Given the description of an element on the screen output the (x, y) to click on. 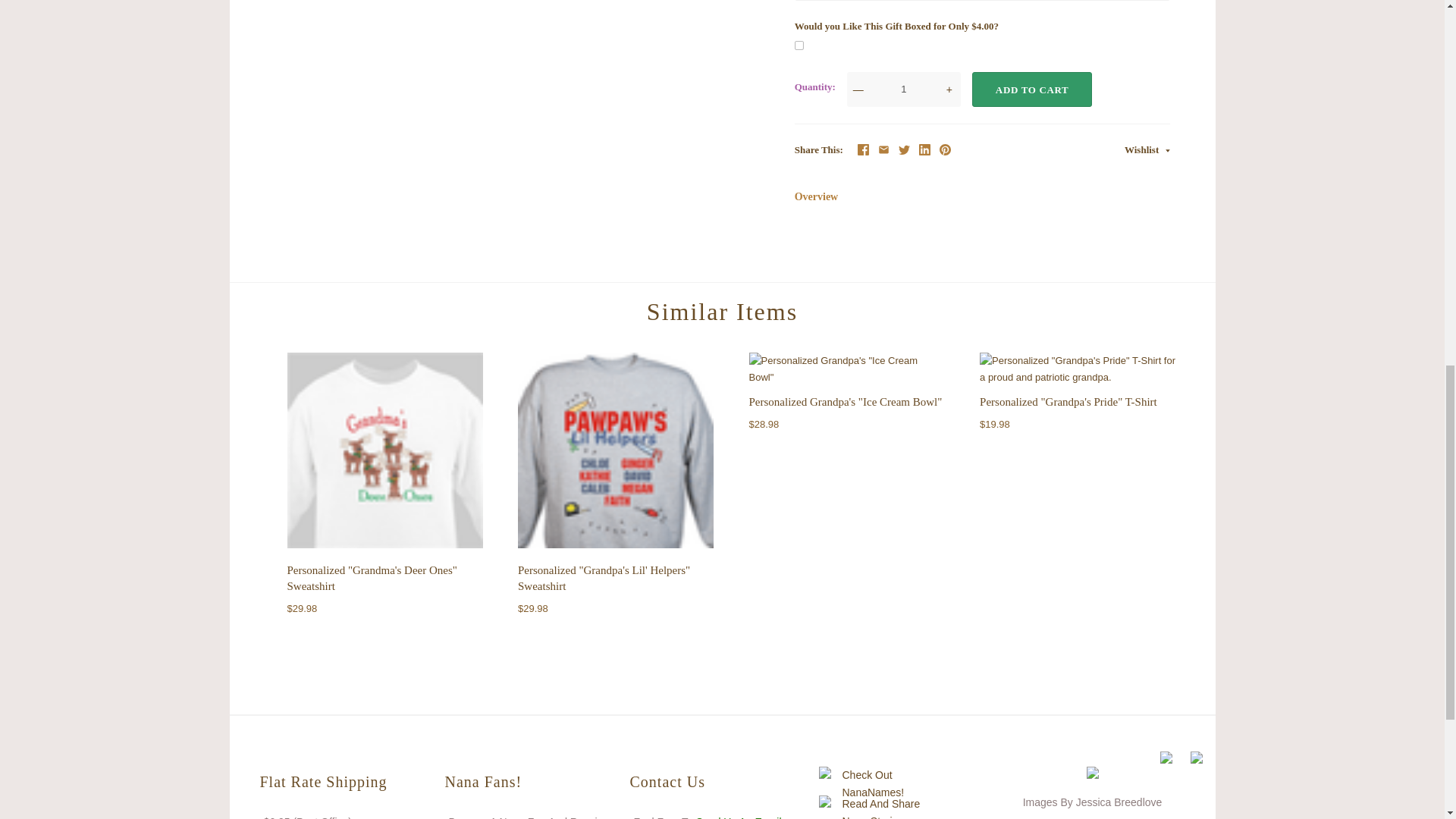
Personalized "Grandma's Deer Ones" Sweatshirt (383, 452)
Personalized "Grandma's Deer Ones" Sweatshirt (371, 578)
Personalized Grandpa's "Ice Cream Bowl" (846, 368)
Personalized "Grandpa's Lil' Helpers" Sweatshirt (615, 452)
Personalized Grandpa's "Ice Cream Bowl" (845, 401)
Personalized "Grandpa's Pride" T-Shirt (1068, 401)
Personalized "Grandpa's Lil' Helpers" Sweatshirt (604, 578)
Personalized "Grandpa's Pride" T-Shirt (1076, 368)
1 (903, 89)
